Given the description of an element on the screen output the (x, y) to click on. 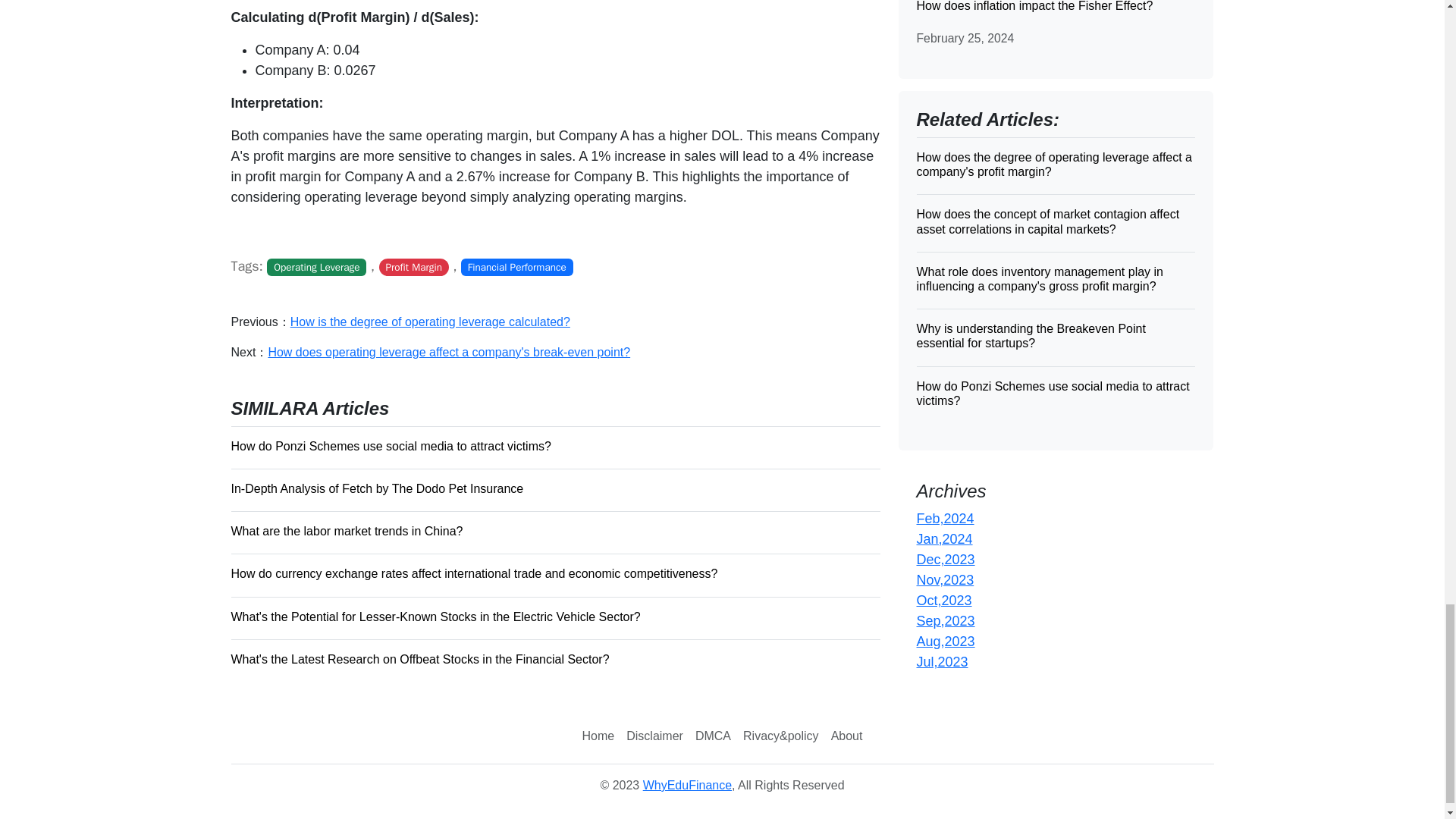
How is the degree of operating leverage calculated? (429, 321)
Home (598, 736)
DMCA (712, 736)
How is the degree of operating leverage calculated? (429, 321)
About (847, 736)
What are the labor market trends in China? (554, 530)
Profit Margin (413, 267)
